Given the description of an element on the screen output the (x, y) to click on. 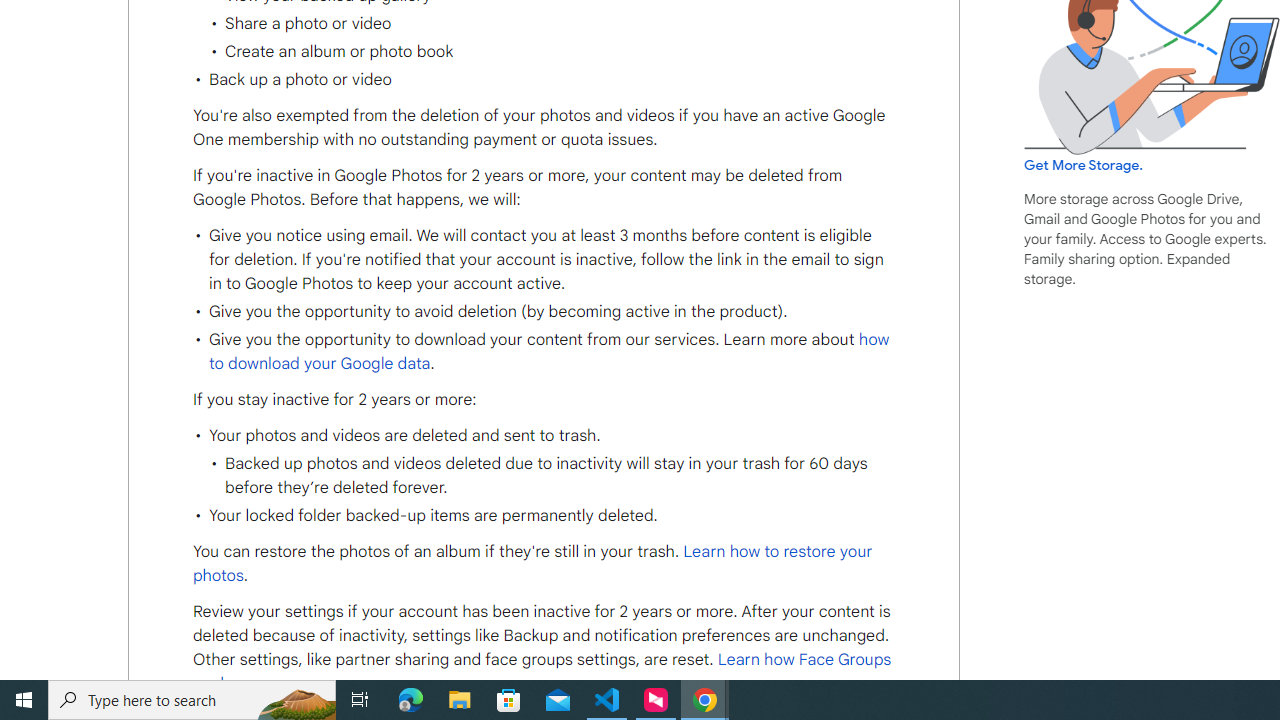
Get More Storage. (1083, 165)
how to download your Google data (548, 351)
Learn how Face Groups works (542, 672)
Learn how to restore your photos (532, 564)
